Given the description of an element on the screen output the (x, y) to click on. 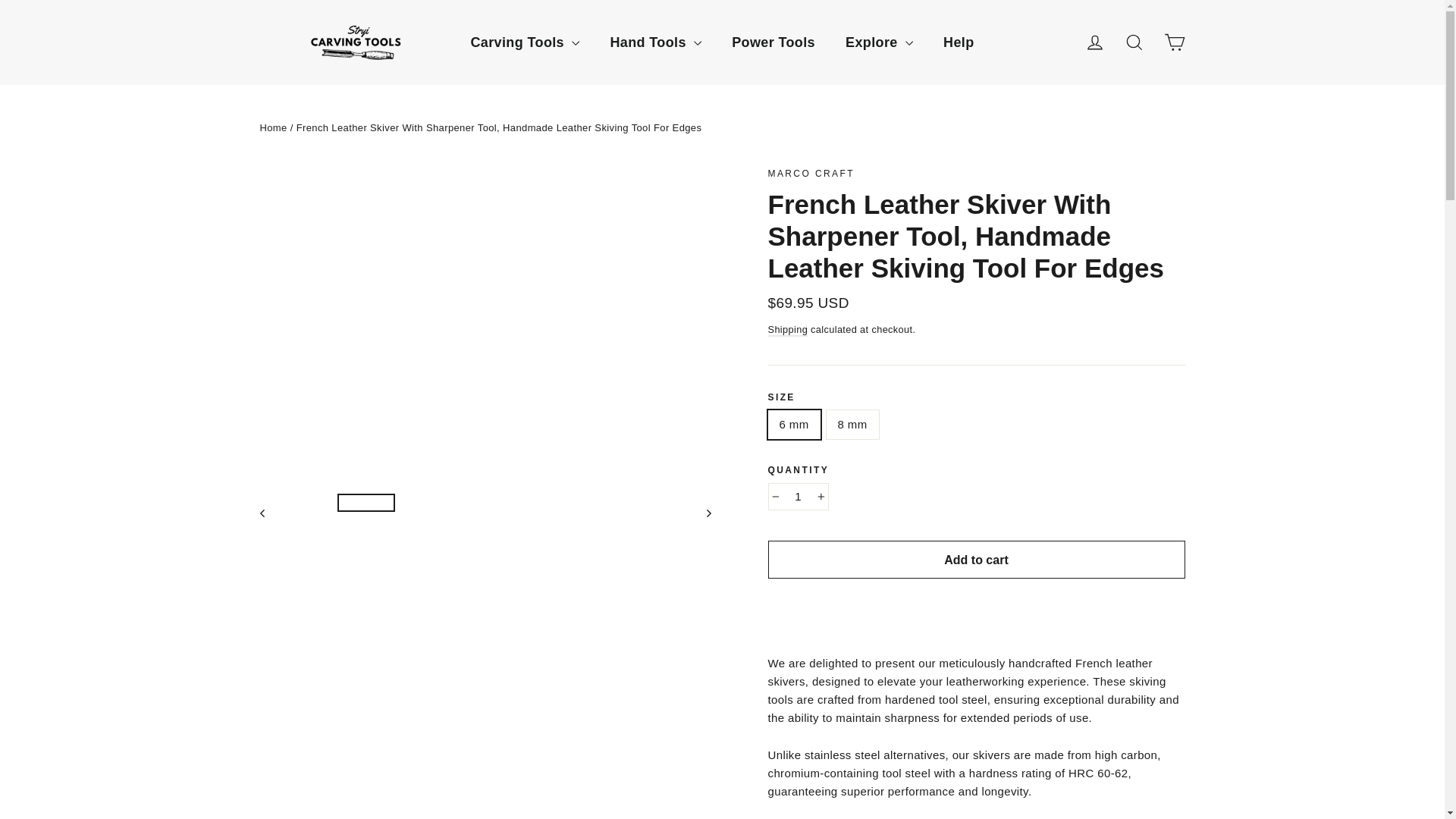
Back to the frontpage (272, 127)
1 (797, 496)
Marco Craft (810, 173)
